Given the description of an element on the screen output the (x, y) to click on. 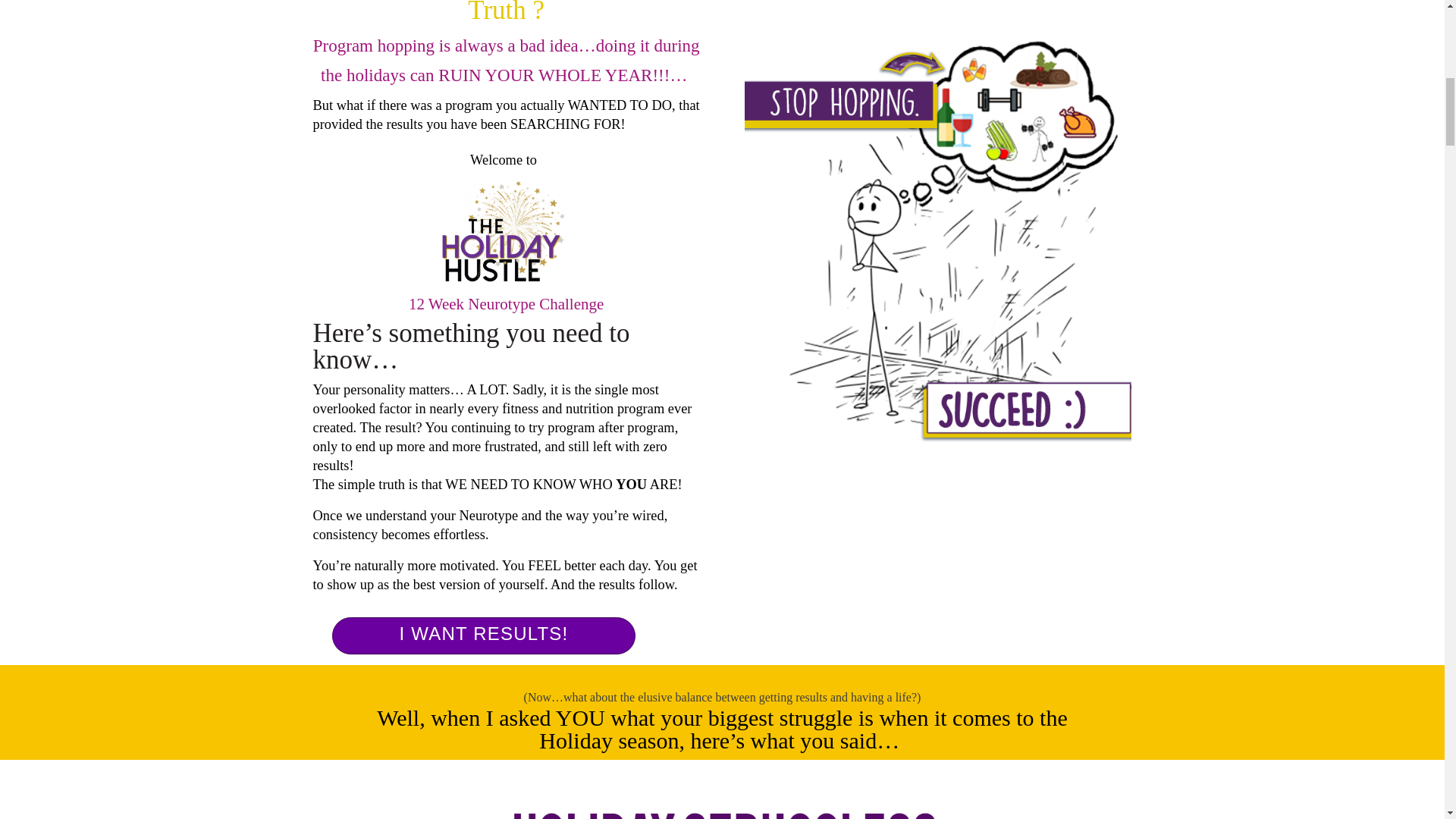
I WANT RESULTS! (483, 633)
